Given the description of an element on the screen output the (x, y) to click on. 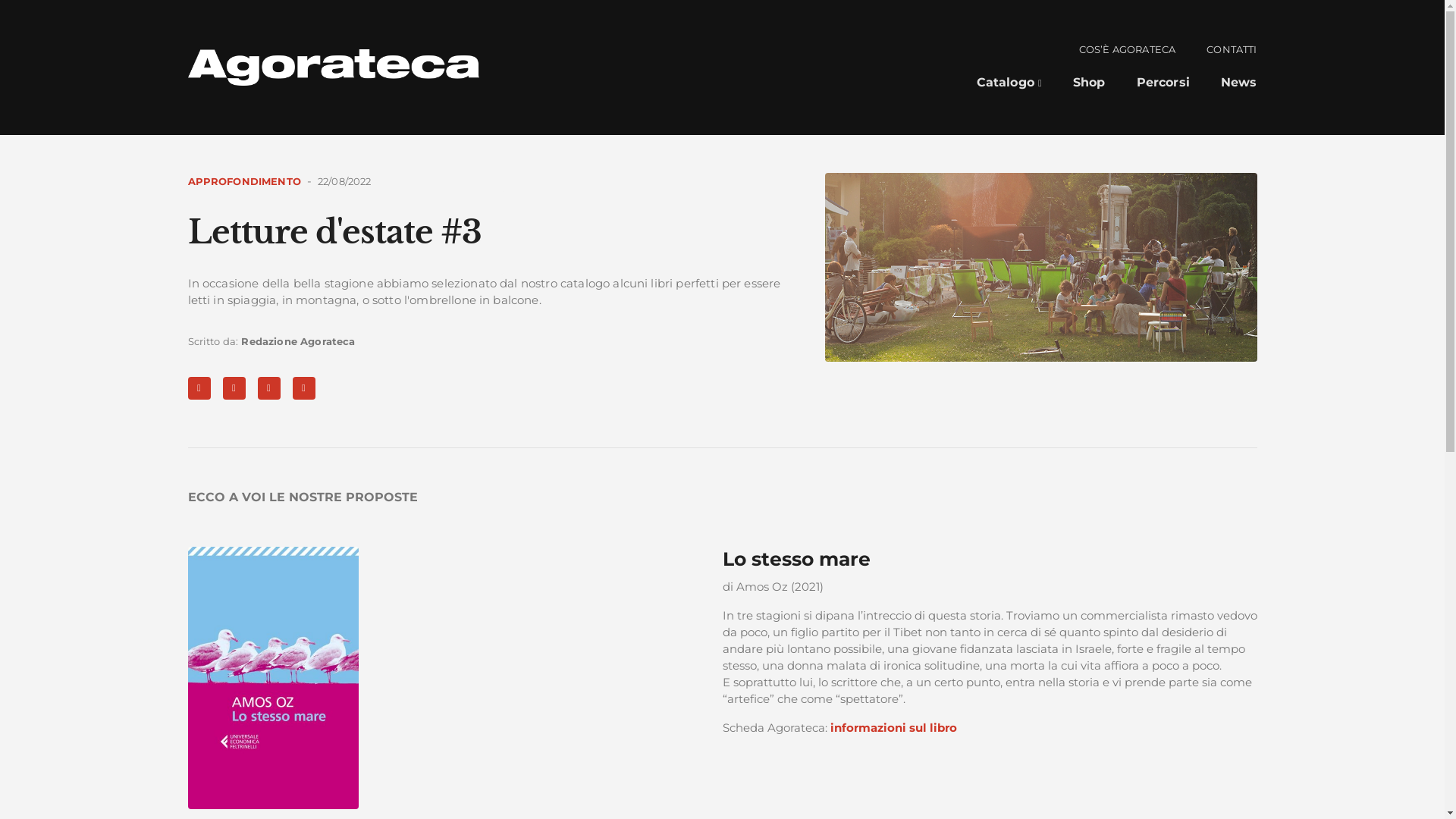
informazioni sul libro Element type: text (892, 727)
Share via Linkedin Element type: hover (233, 387)
Catalogo Element type: text (1008, 84)
Share via Twitter Element type: hover (268, 387)
News Element type: text (1238, 84)
Shop Element type: text (1089, 84)
Share via Facebook Element type: hover (199, 387)
Agorateca Element type: hover (333, 67)
Share via Whatsapp Element type: hover (303, 387)
CONTATTI Element type: text (1231, 50)
Percorsi Element type: text (1162, 84)
